Given the description of an element on the screen output the (x, y) to click on. 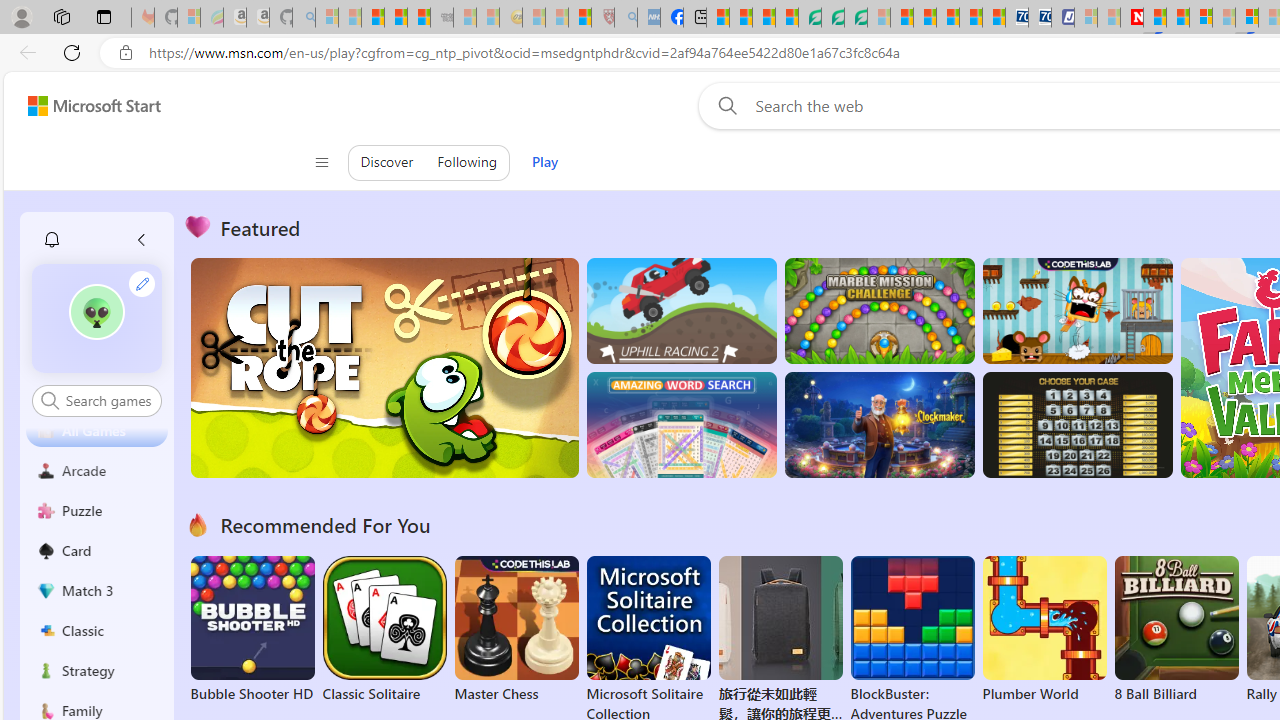
Up Hill Racing 2 (681, 310)
Local - MSN (580, 17)
""'s avatar (96, 312)
